Given the description of an element on the screen output the (x, y) to click on. 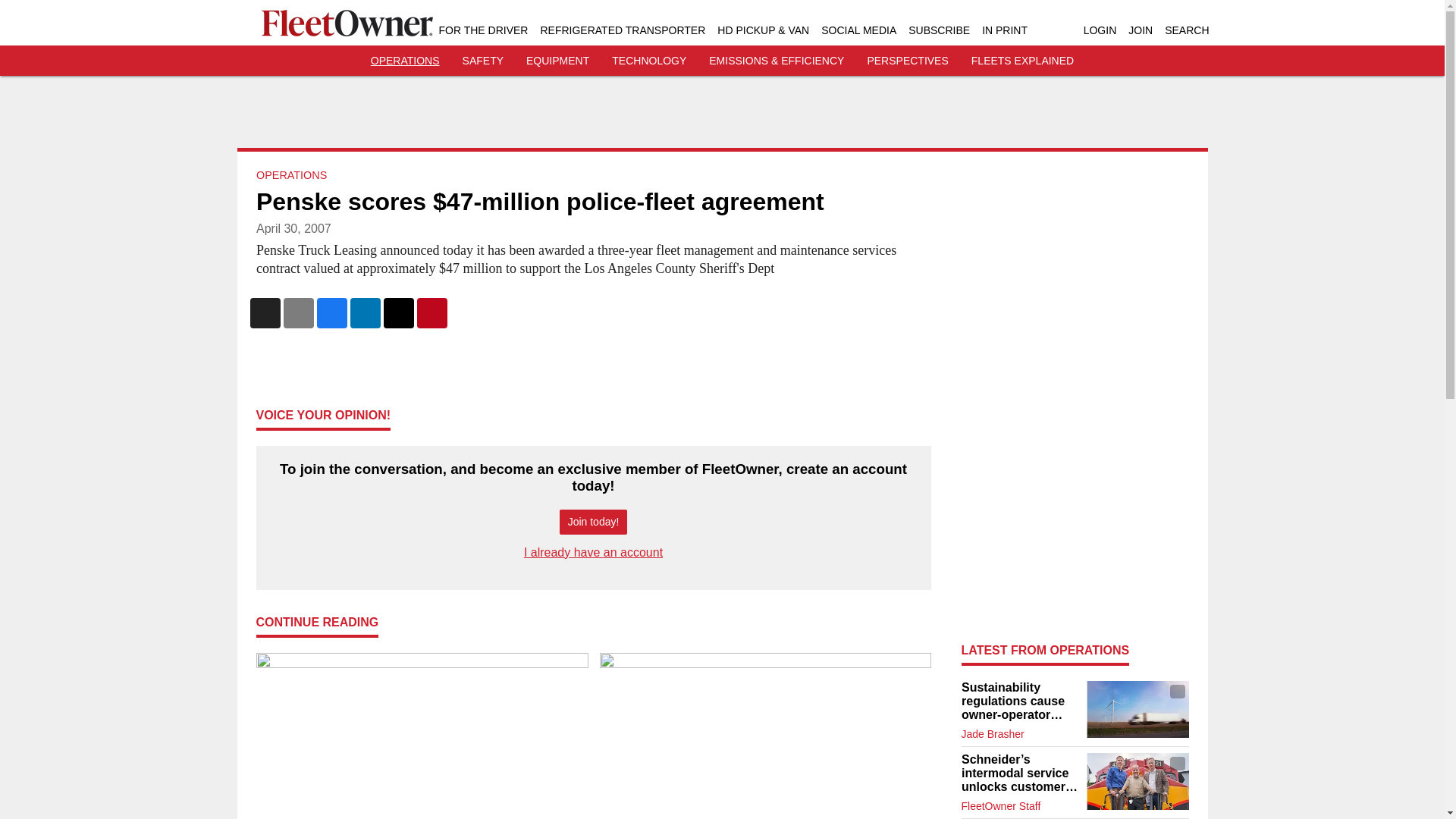
PERSPECTIVES (906, 60)
FOR THE DRIVER (482, 30)
FLEETS EXPLAINED (1022, 60)
SUBSCRIBE (938, 30)
SEARCH (1186, 30)
IN PRINT (1004, 30)
OPERATIONS (405, 60)
SAFETY (483, 60)
LOGIN (1099, 30)
SOCIAL MEDIA (858, 30)
REFRIGERATED TRANSPORTER (622, 30)
EQUIPMENT (557, 60)
JOIN (1140, 30)
TECHNOLOGY (648, 60)
